Given the description of an element on the screen output the (x, y) to click on. 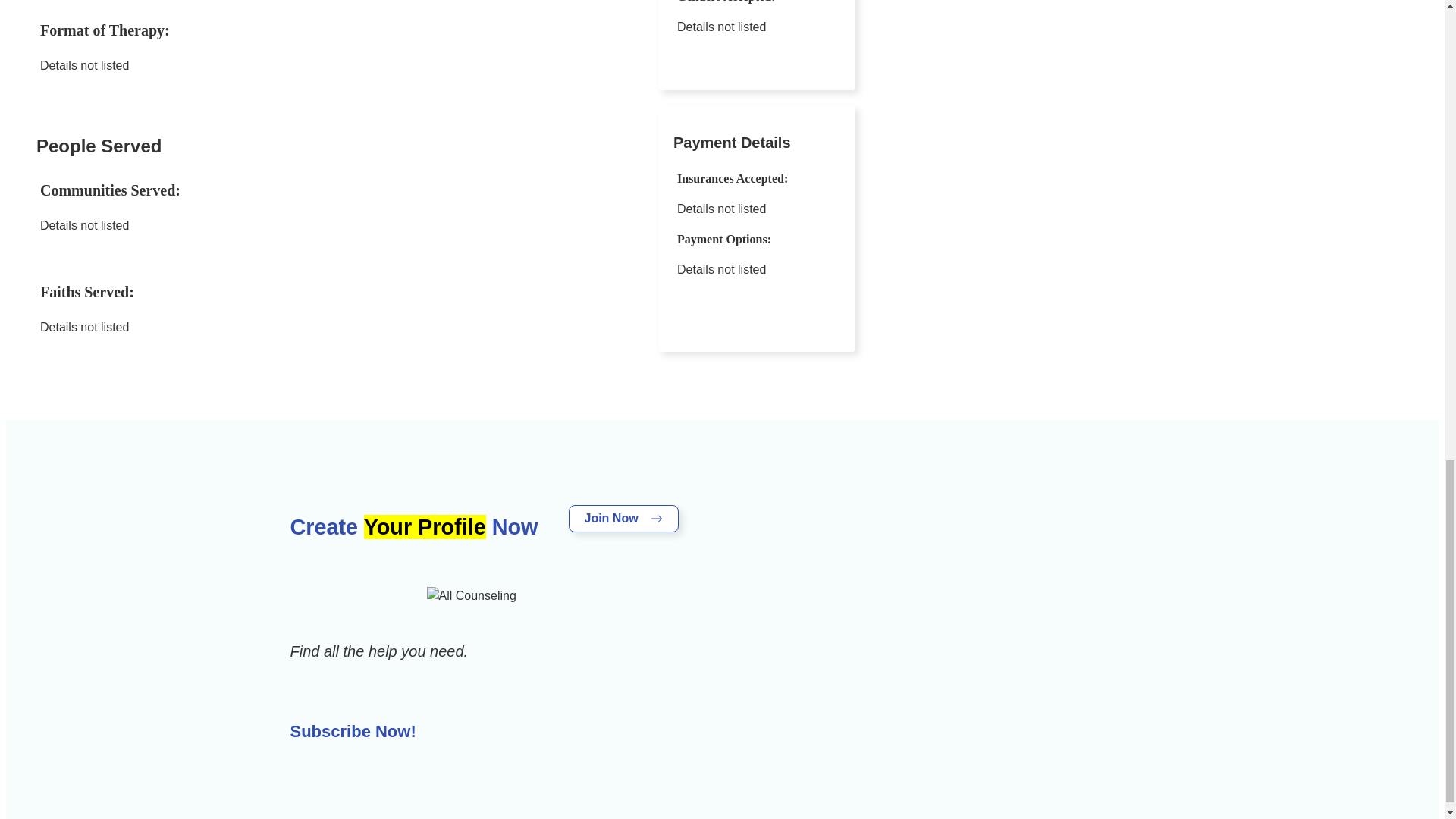
All Counseling (470, 596)
Join Now (623, 518)
